Given the description of an element on the screen output the (x, y) to click on. 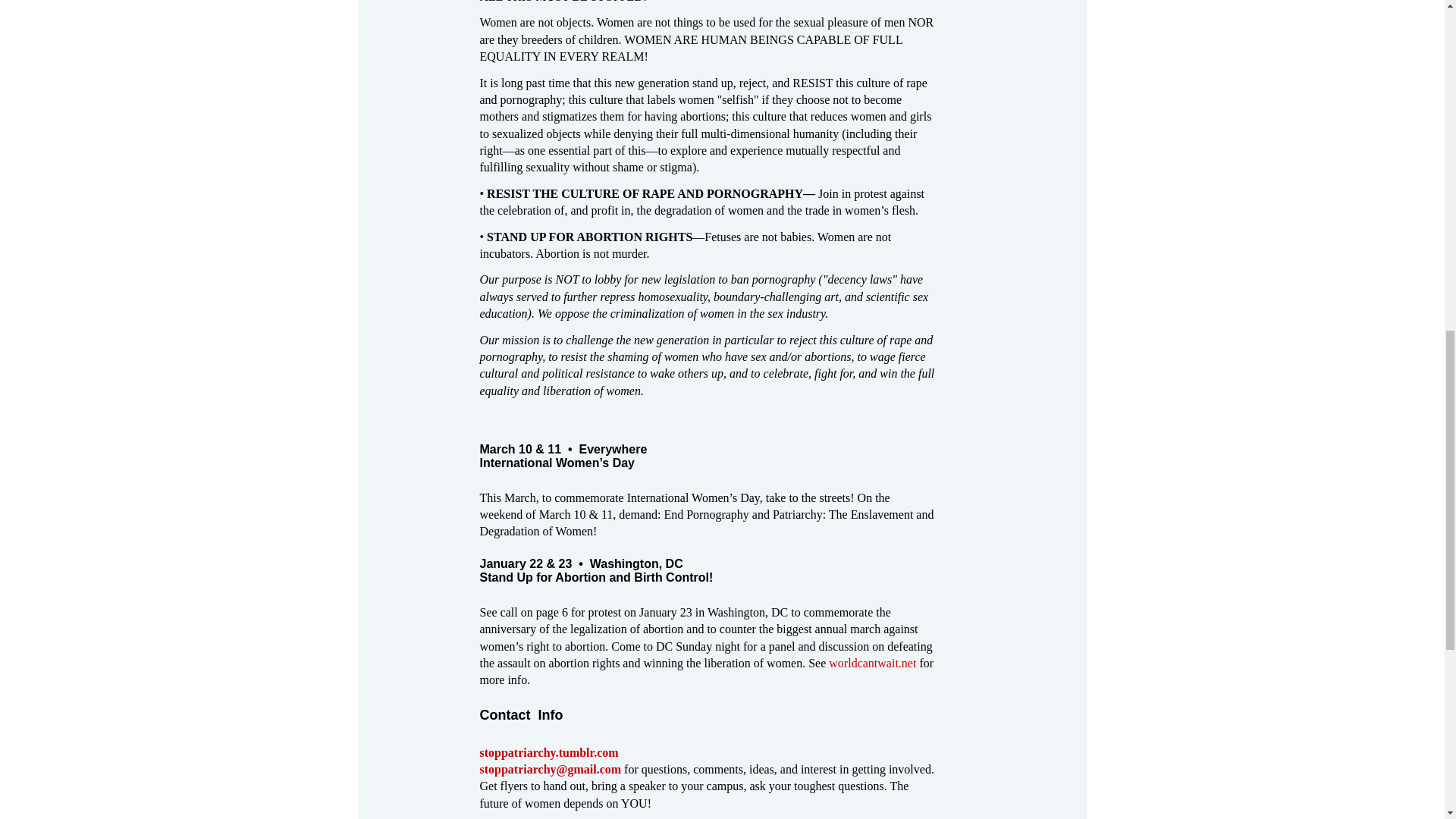
stoppatriarchy.tumblr.com (548, 752)
worldcantwait.net (871, 662)
